Given the description of an element on the screen output the (x, y) to click on. 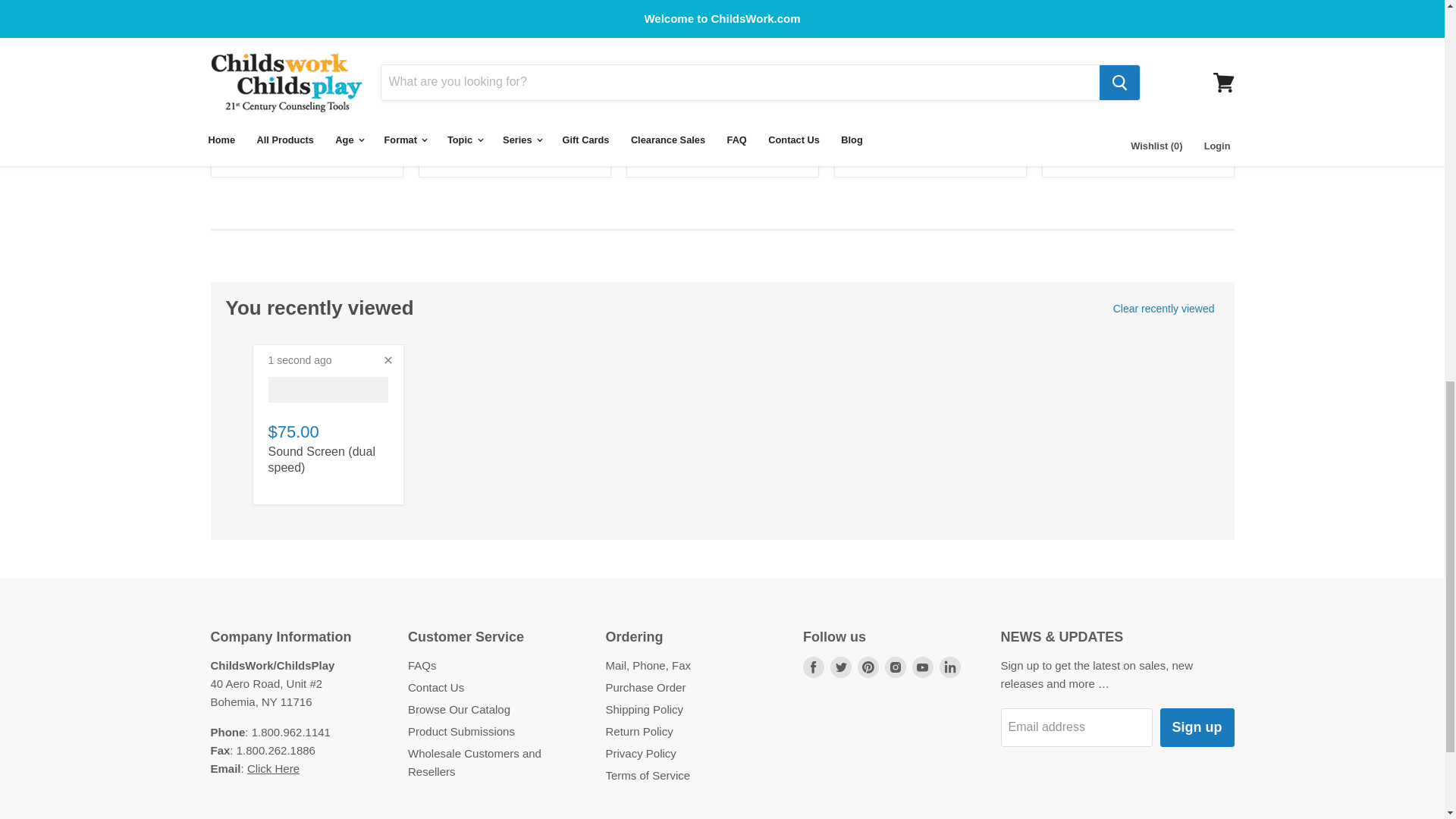
Contact Us (273, 768)
Youtube (922, 666)
Instagram (895, 666)
Twitter (840, 666)
Pinterest (868, 666)
LinkedIn (949, 666)
Facebook (813, 666)
